Given the description of an element on the screen output the (x, y) to click on. 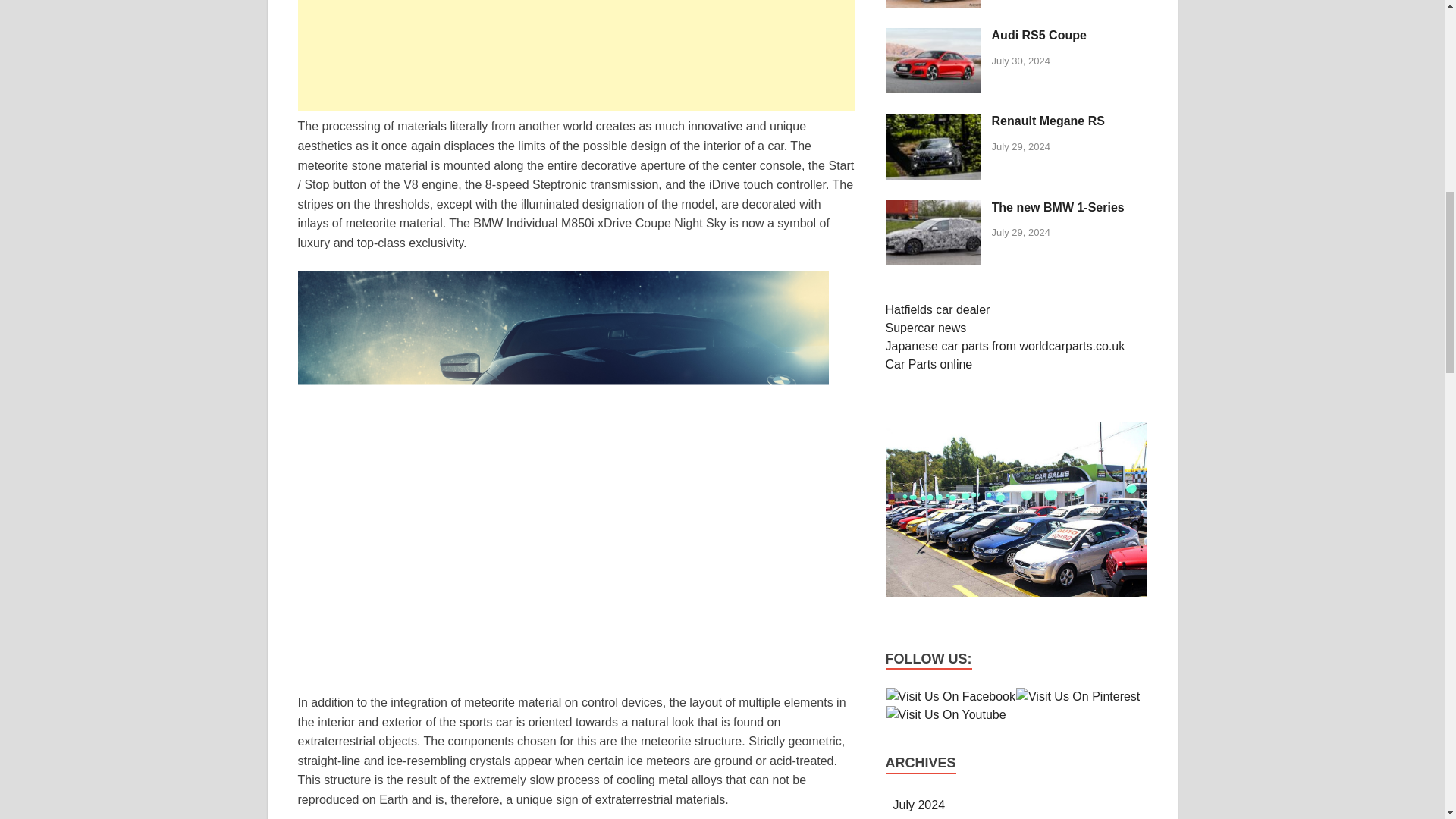
The new BMW 1-Series (1057, 206)
Advertisement (575, 55)
Renault Megane RS (932, 174)
Audi RS5 Coupe (1038, 34)
Renault Megane RS (1048, 120)
Audi RS5 Coupe (932, 88)
Citroen C4 Cactus (932, 4)
